Given the description of an element on the screen output the (x, y) to click on. 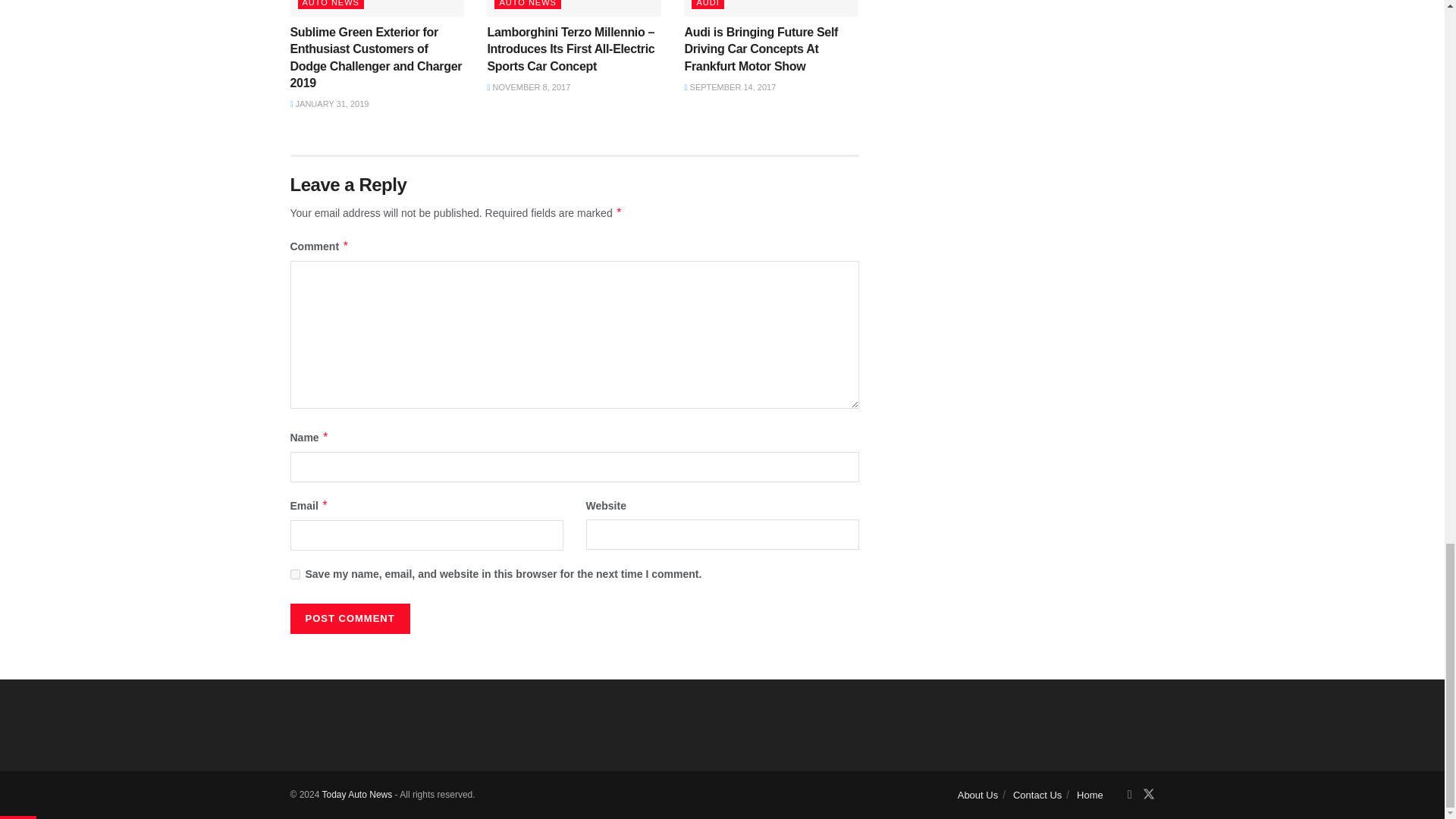
yes (294, 574)
Today Auto News (356, 794)
Post Comment (349, 618)
